Given the description of an element on the screen output the (x, y) to click on. 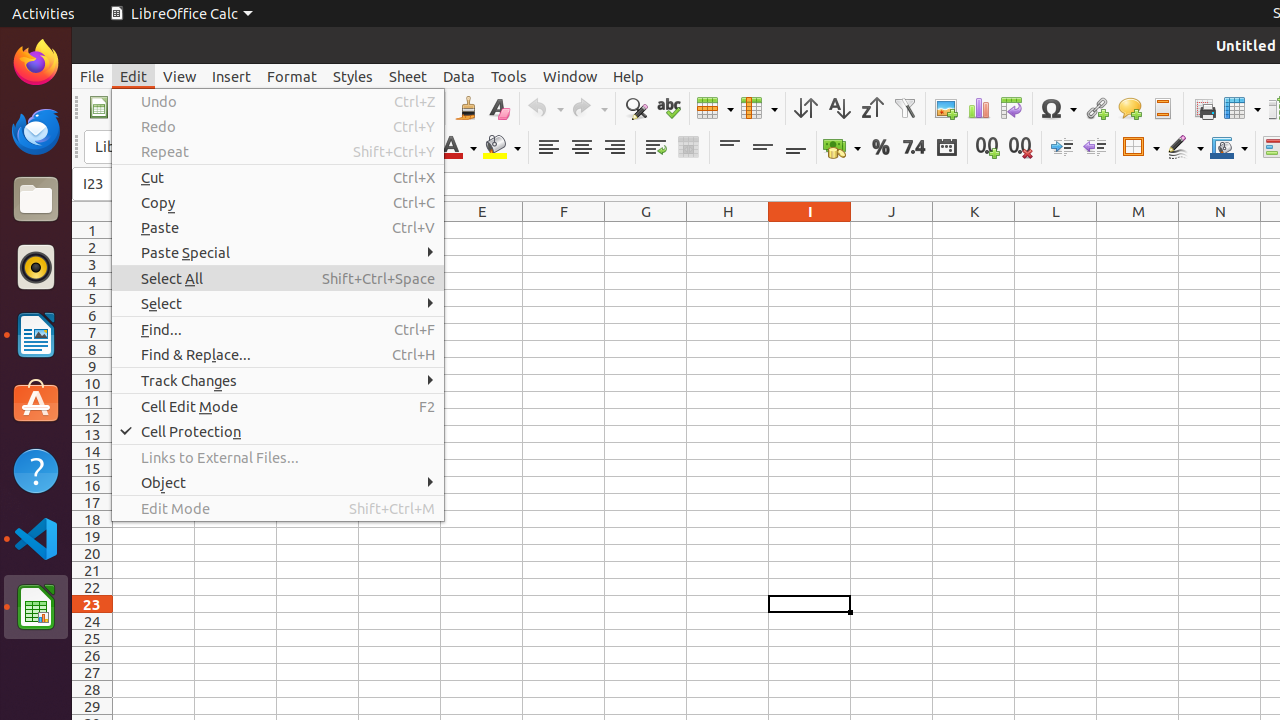
Headers and Footers Element type: push-button (1162, 108)
G1 Element type: table-cell (646, 230)
M1 Element type: table-cell (1138, 230)
Paste Element type: menu-item (278, 227)
